Given the description of an element on the screen output the (x, y) to click on. 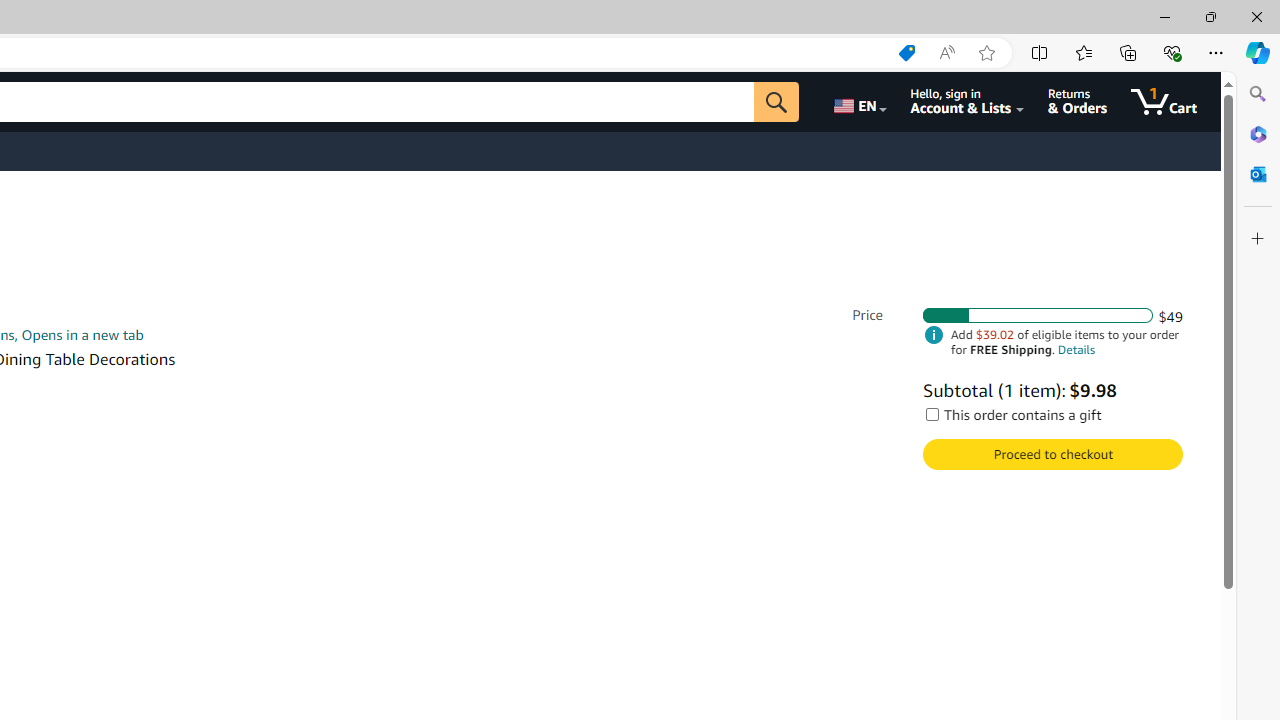
Proceed to checkout Check out Amazon Cart (1052, 453)
Hello, sign in Account & Lists (967, 101)
Go (776, 101)
